Given the description of an element on the screen output the (x, y) to click on. 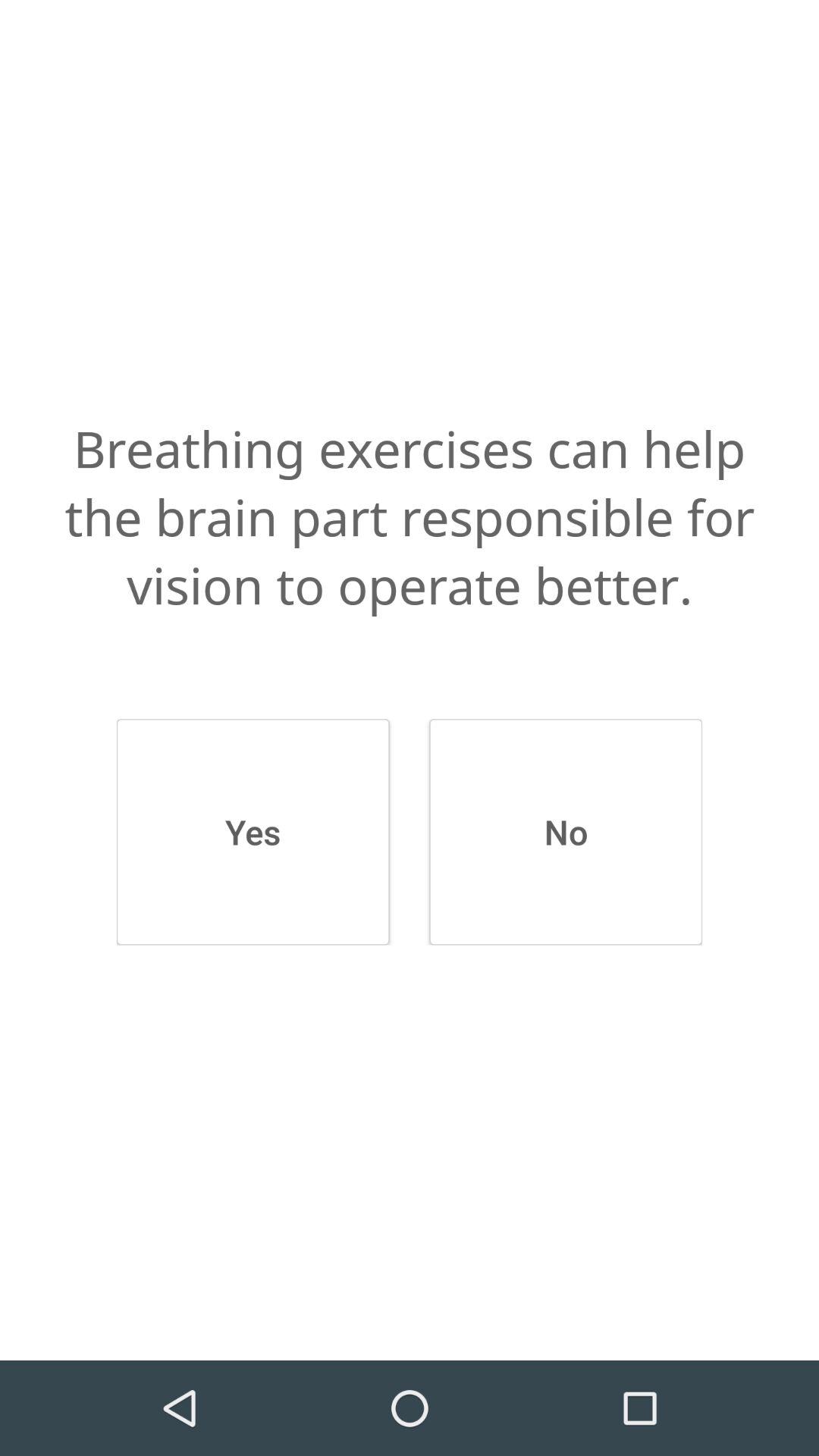
turn on icon next to yes item (565, 831)
